Given the description of an element on the screen output the (x, y) to click on. 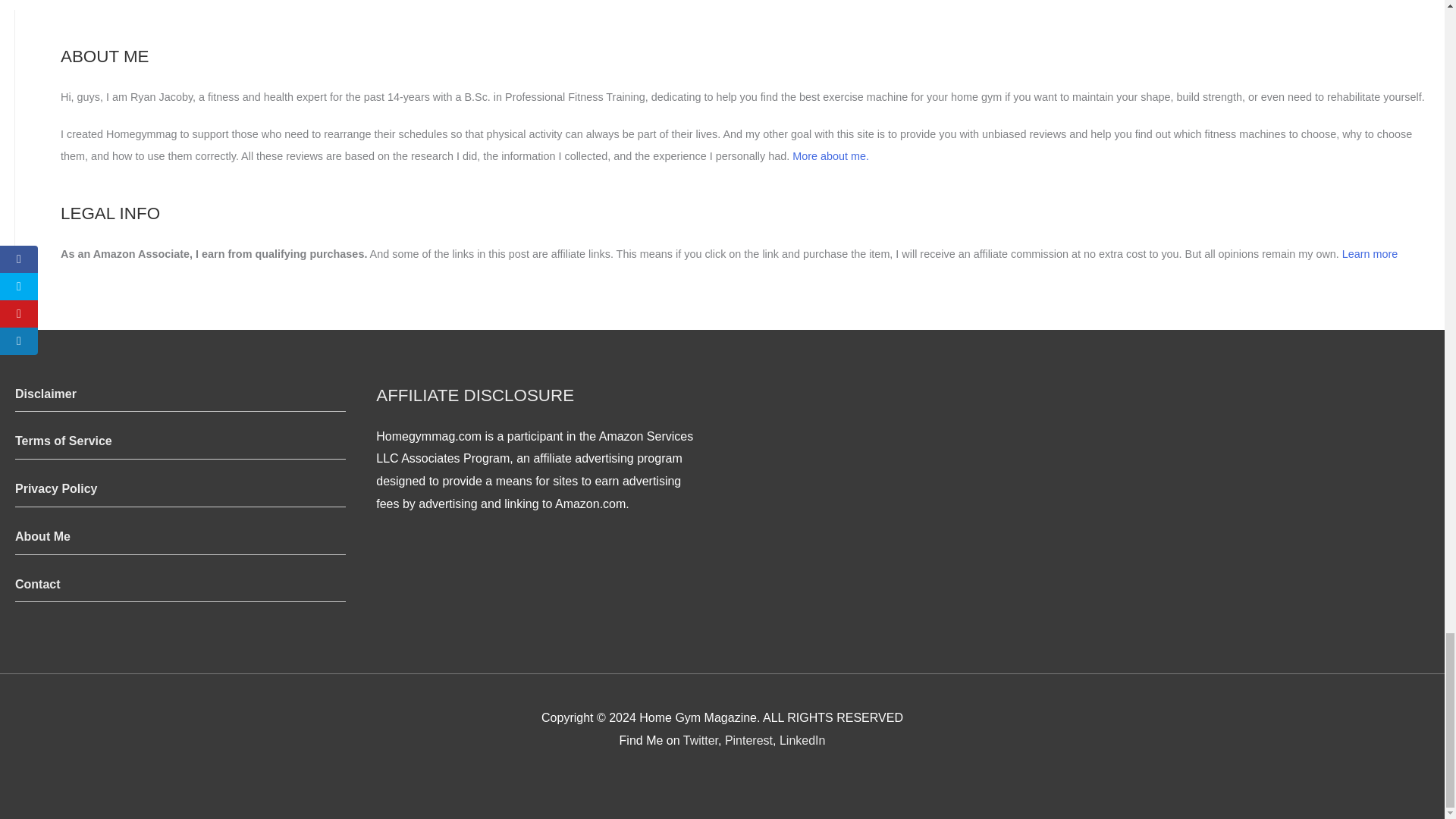
DMCA.com Protection Status (722, 774)
